Given the description of an element on the screen output the (x, y) to click on. 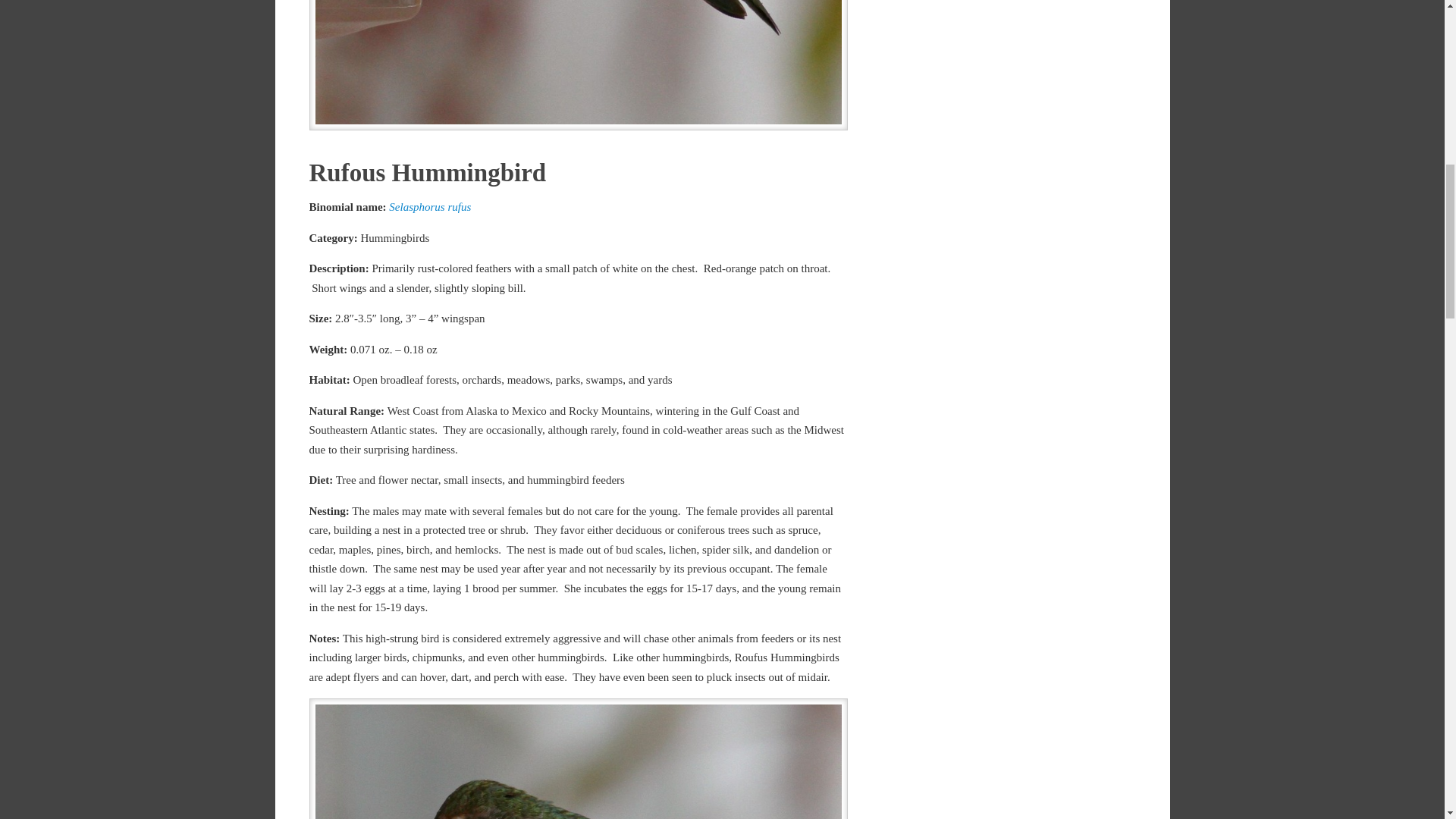
Selasphorus rufus (429, 206)
